Given the description of an element on the screen output the (x, y) to click on. 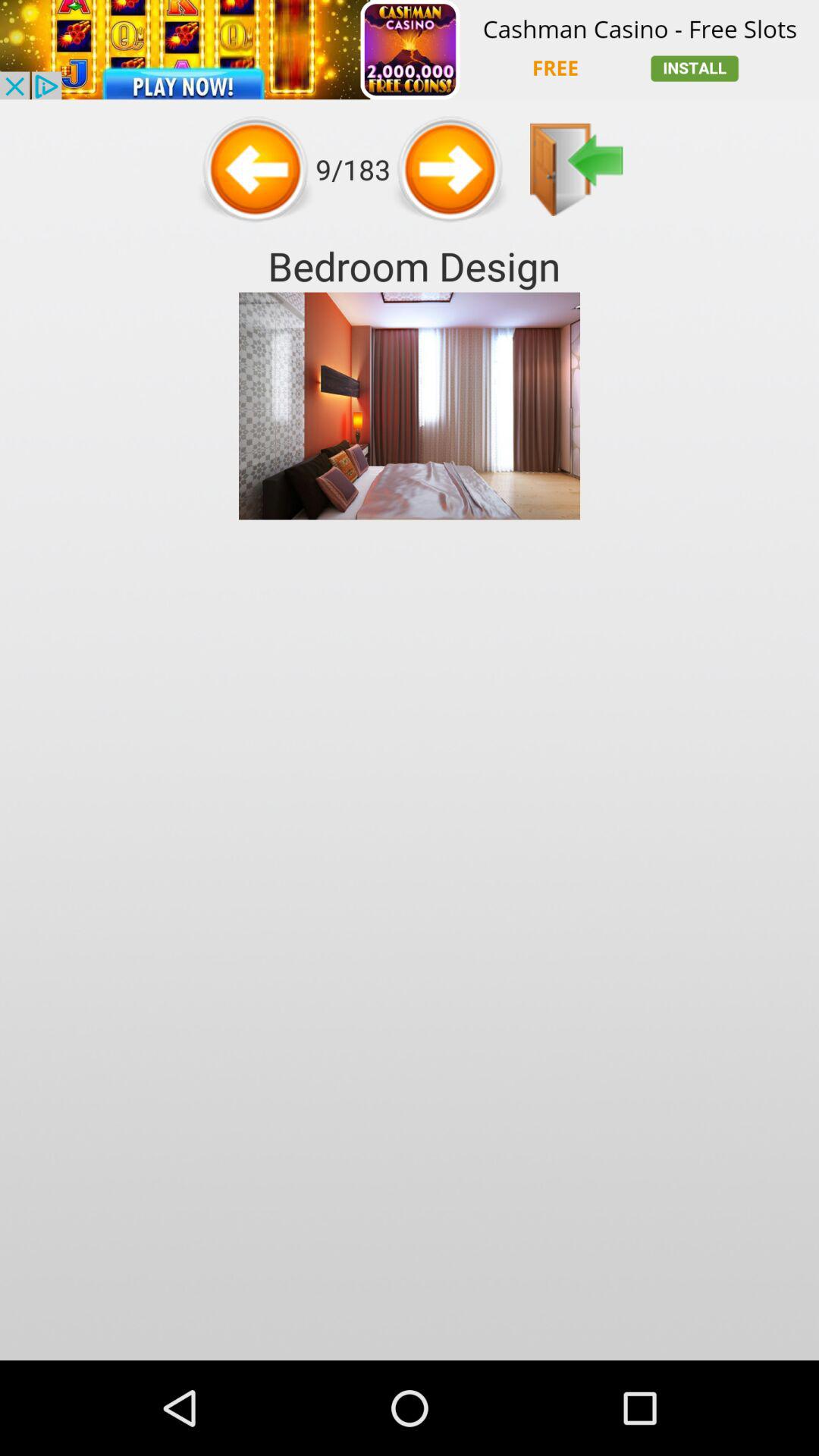
open picture (576, 169)
